Given the description of an element on the screen output the (x, y) to click on. 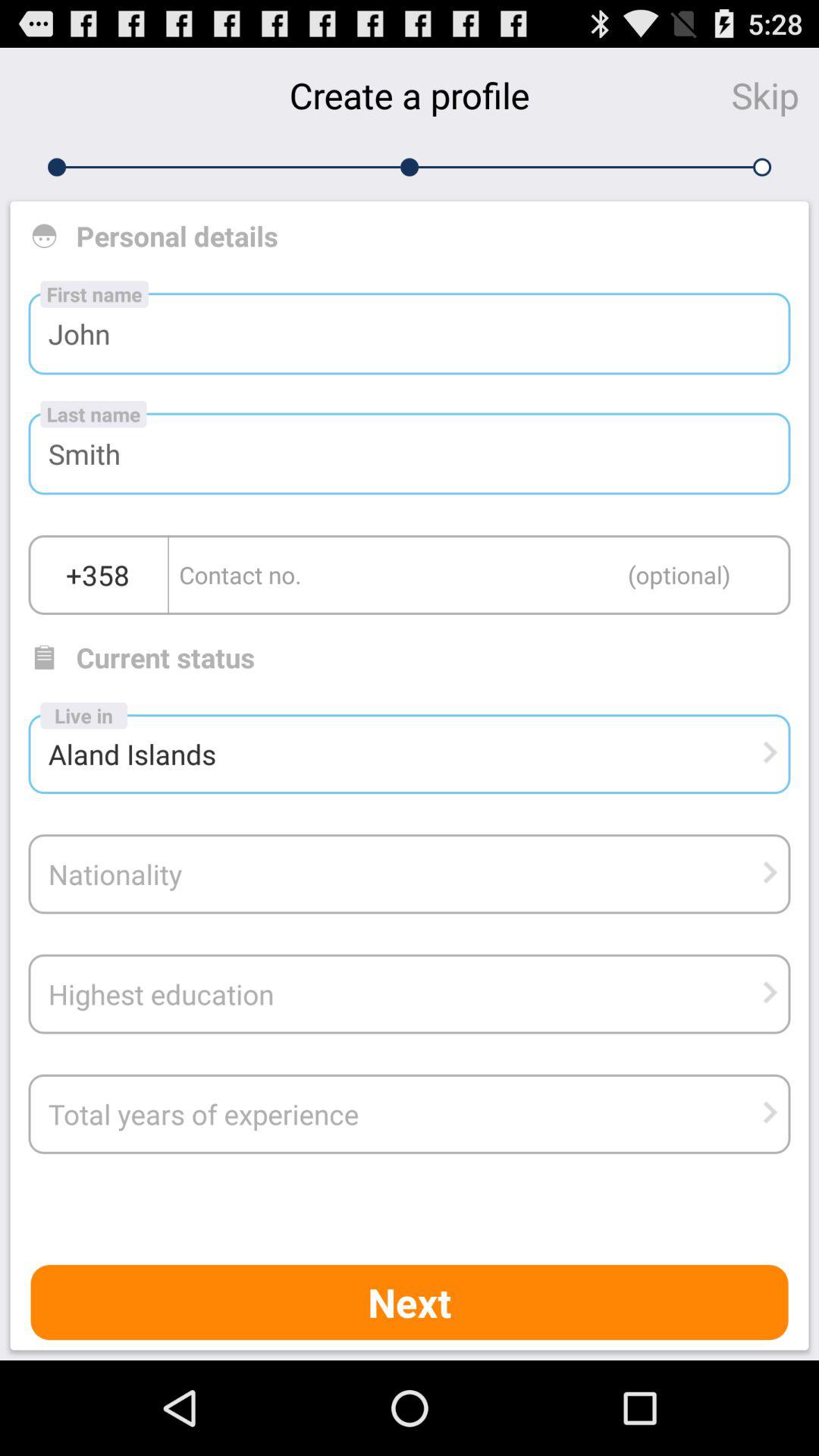
this box contact option (479, 574)
